Given the description of an element on the screen output the (x, y) to click on. 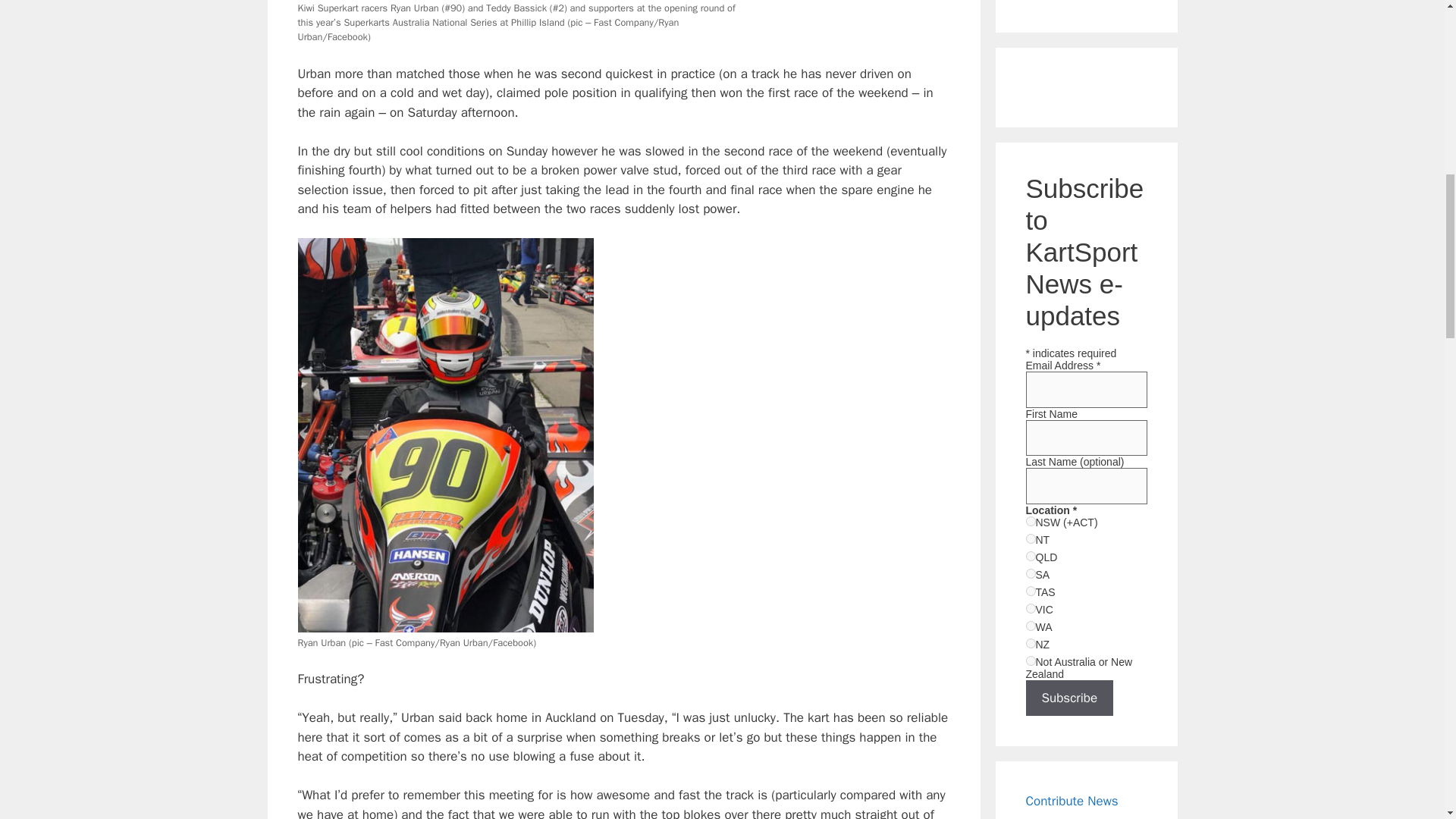
Not Australia or New Zealand (1030, 660)
Scroll back to top (1406, 720)
Subscribe (1069, 698)
TAS (1030, 591)
NZ (1030, 643)
VIC (1030, 608)
WA (1030, 625)
QLD (1030, 556)
SA (1030, 573)
NT (1030, 538)
